Given the description of an element on the screen output the (x, y) to click on. 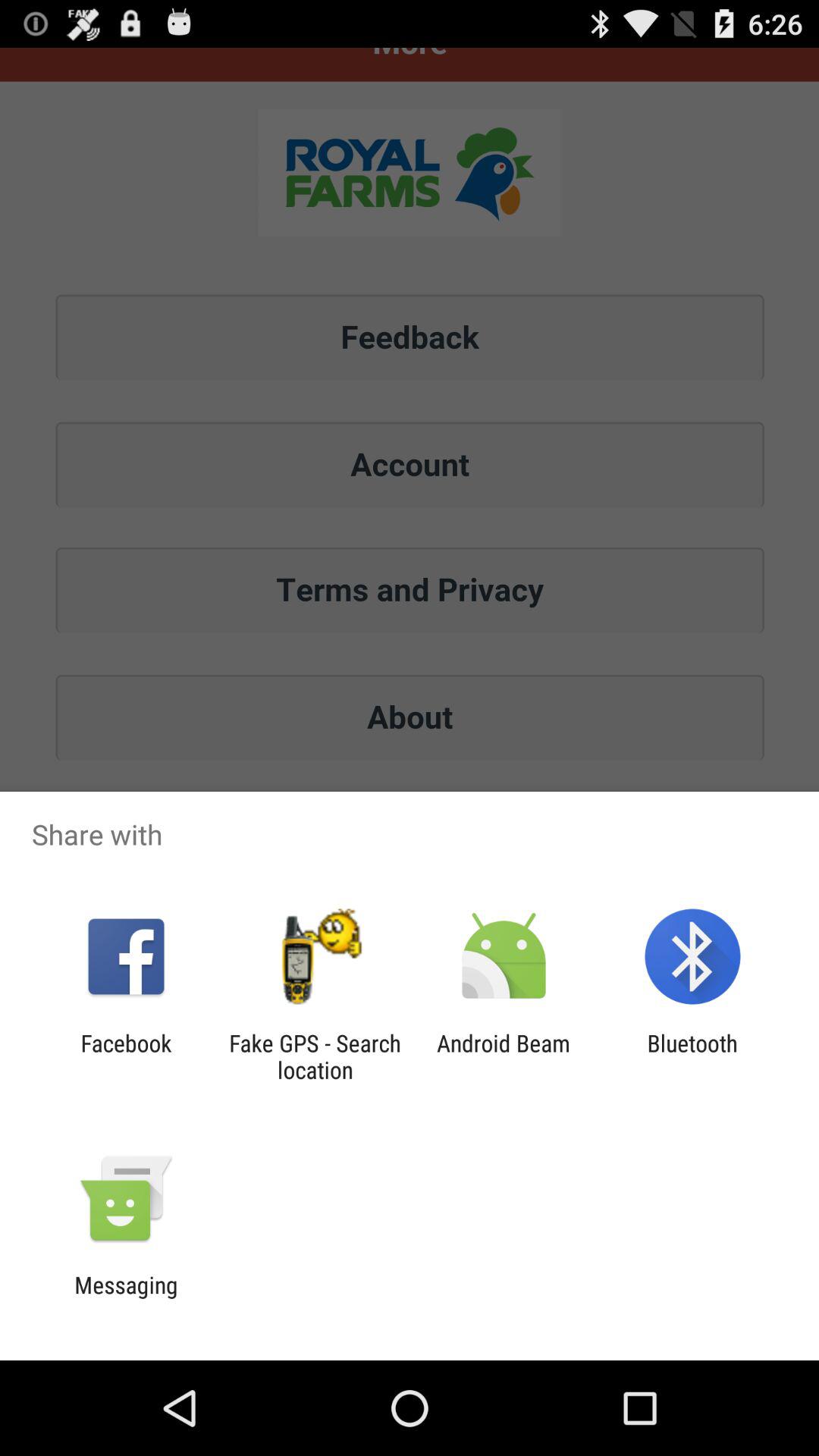
open the android beam (503, 1056)
